Given the description of an element on the screen output the (x, y) to click on. 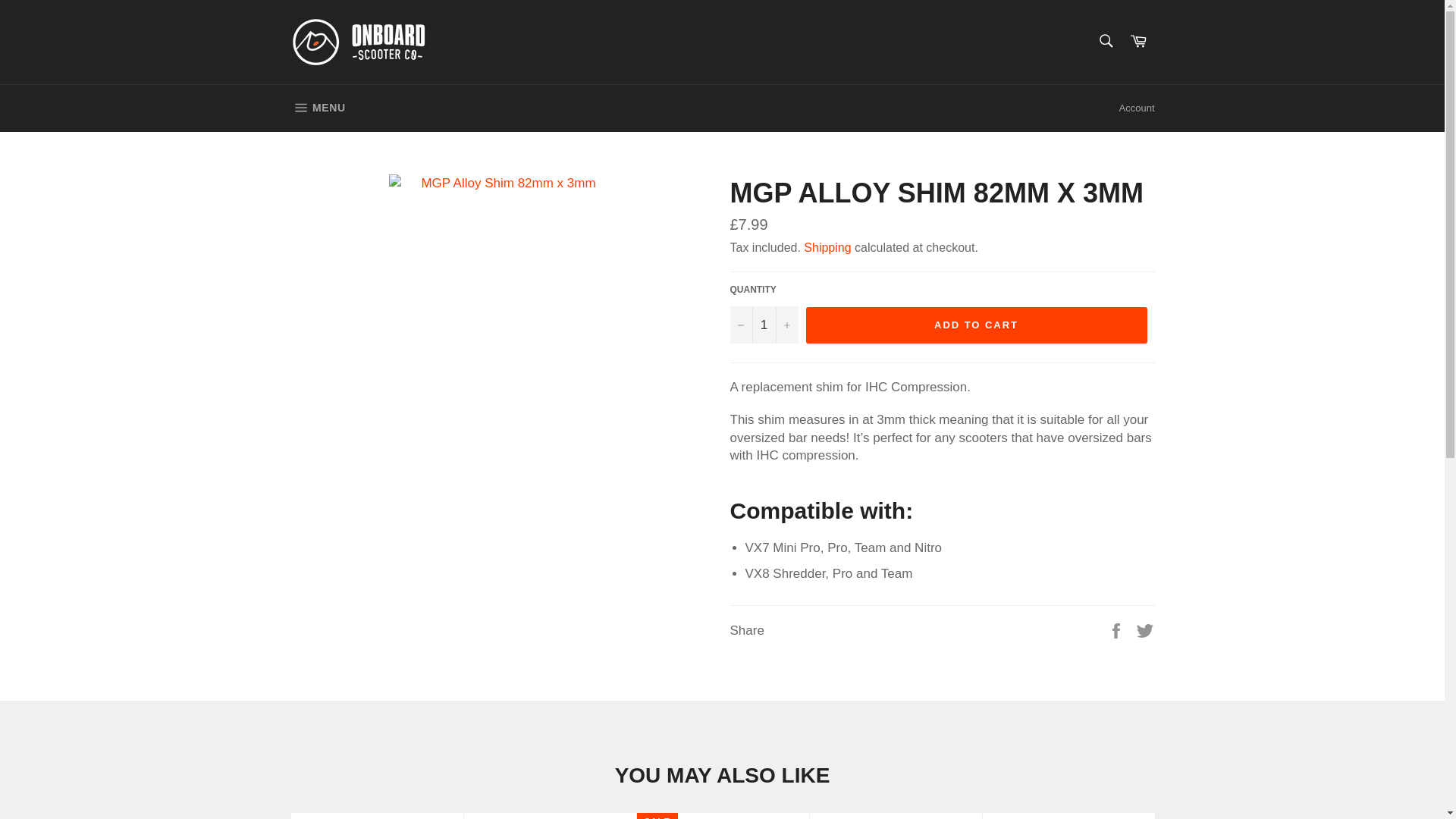
Share on Facebook (1117, 629)
Tweet on Twitter (1144, 629)
Cart (1138, 41)
1 (763, 324)
Search (1104, 40)
